Given the description of an element on the screen output the (x, y) to click on. 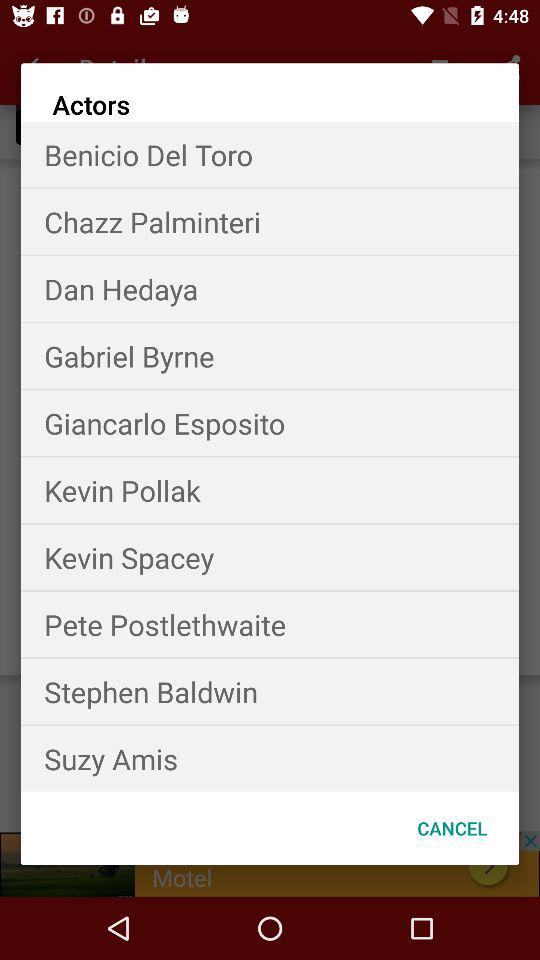
click chazz palminteri icon (269, 221)
